Given the description of an element on the screen output the (x, y) to click on. 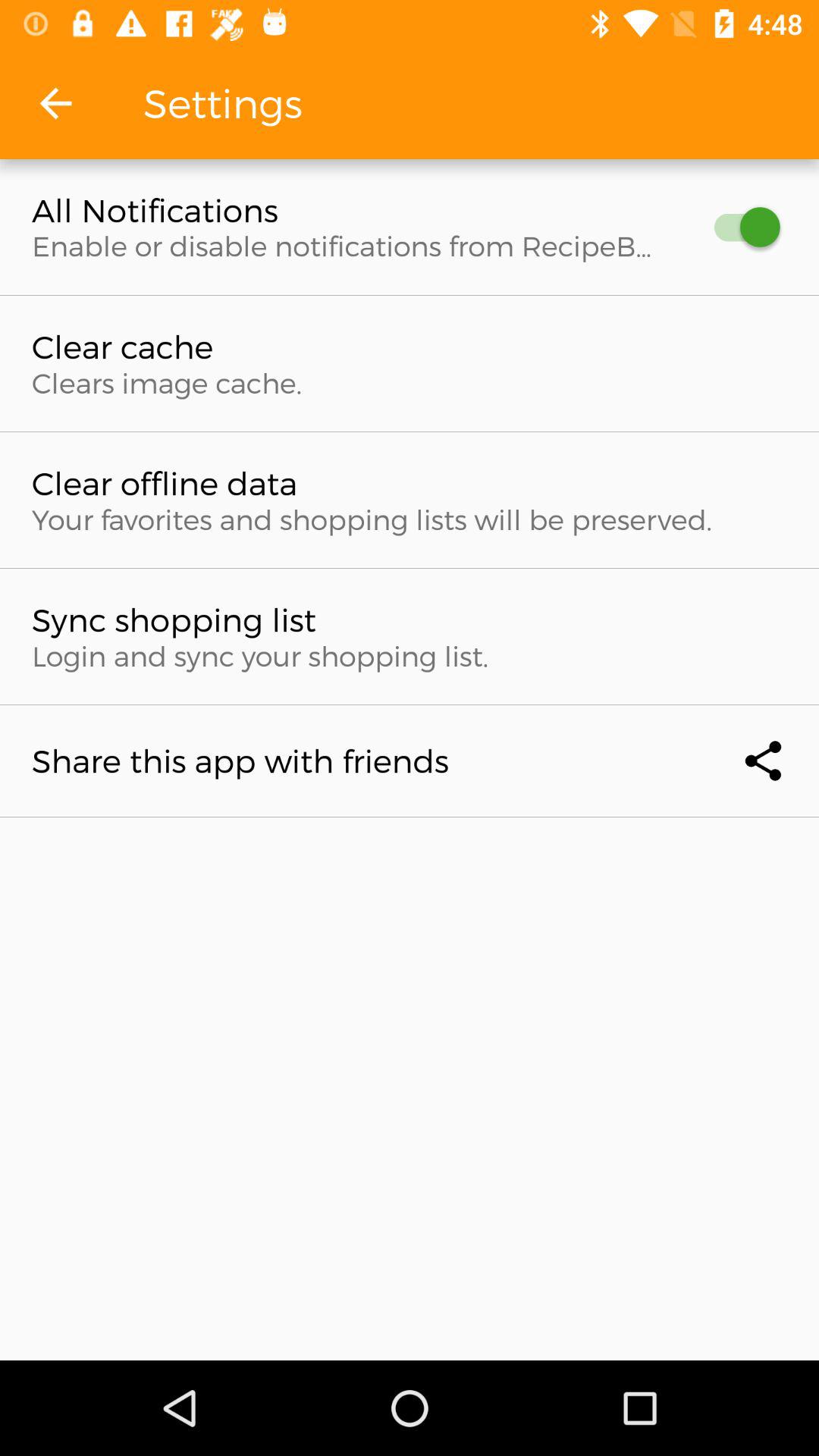
tap icon at the top right corner (739, 227)
